Given the description of an element on the screen output the (x, y) to click on. 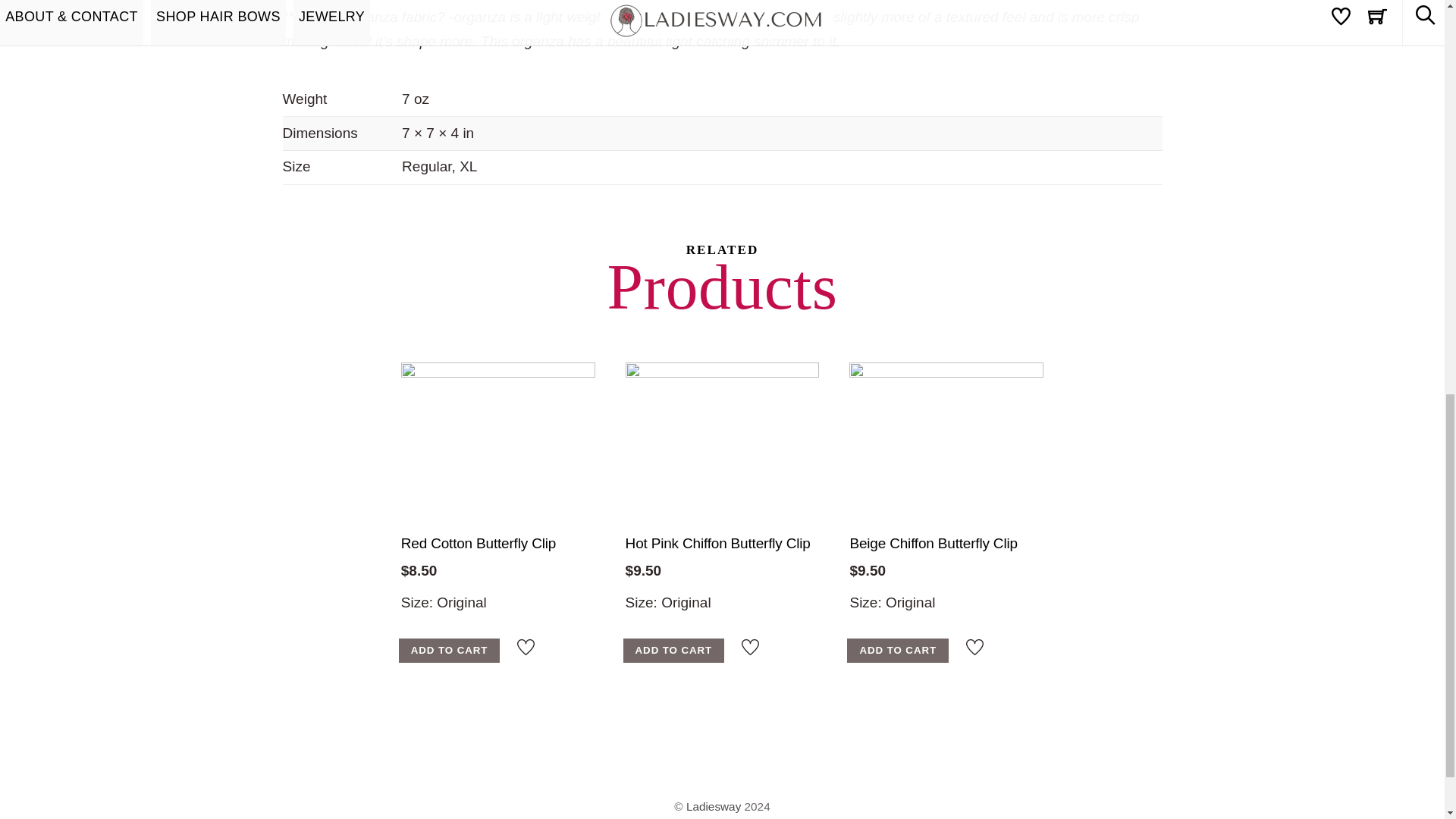
Ladiesway (713, 805)
ADD TO CART (674, 650)
ADD TO CART (449, 650)
ADD TO CART (898, 650)
